Given the description of an element on the screen output the (x, y) to click on. 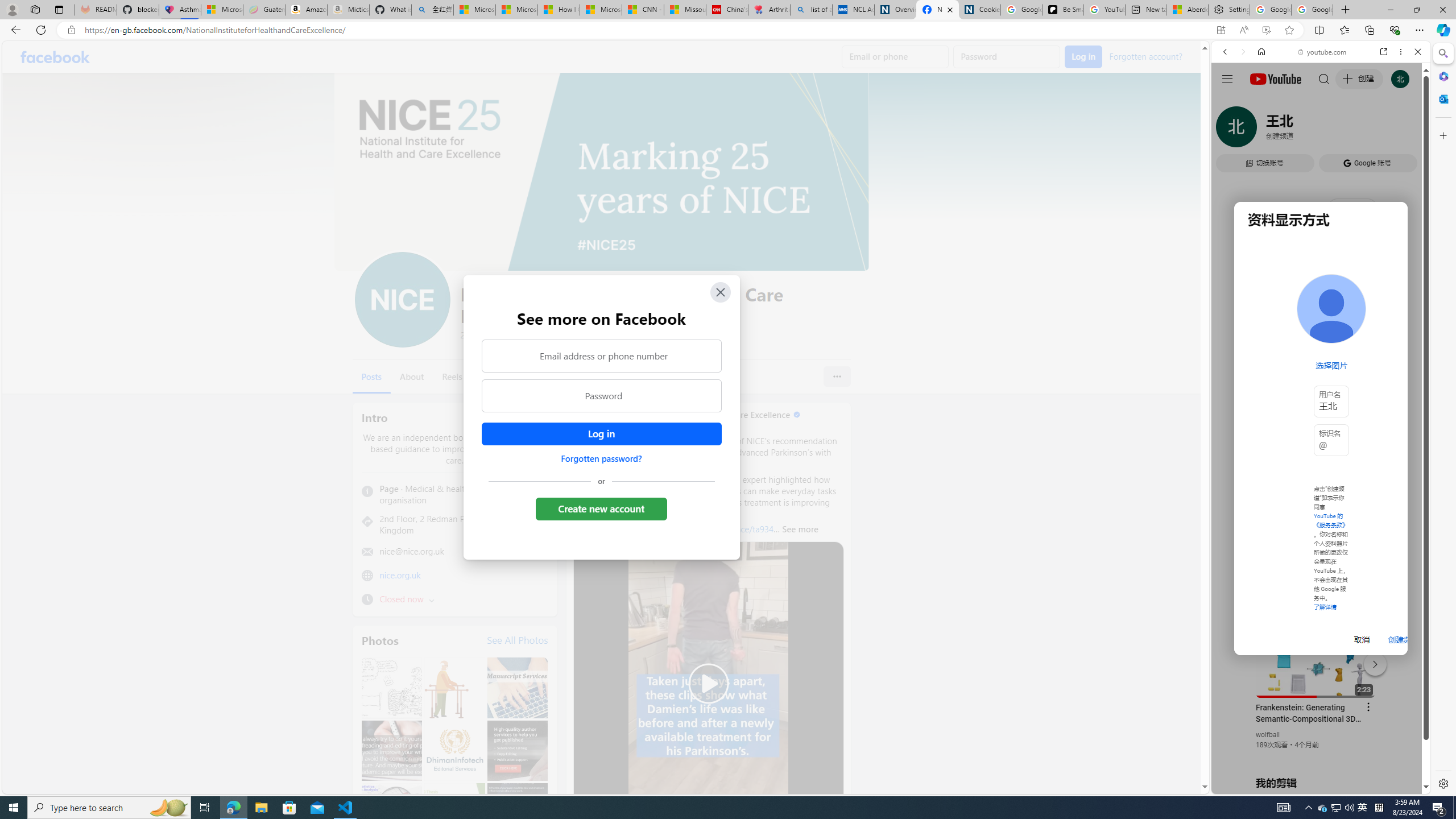
Create new account (601, 508)
Show More Music (1390, 310)
Class: dict_pnIcon rms_img (1312, 784)
